Given the description of an element on the screen output the (x, y) to click on. 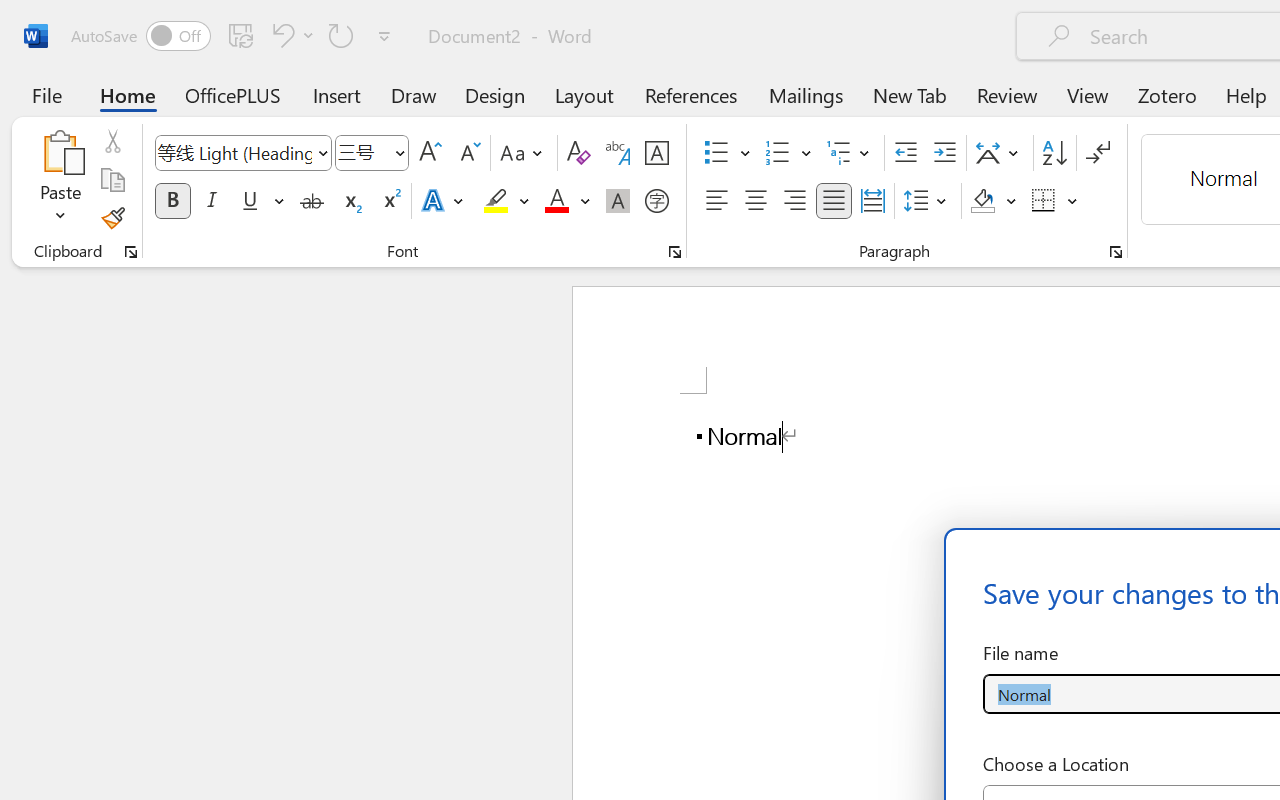
Character Border (656, 153)
Underline (261, 201)
Font Color (567, 201)
Center (756, 201)
Layout (584, 94)
Numbering (778, 153)
Draw (413, 94)
Format Painter (112, 218)
Show/Hide Editing Marks (1098, 153)
Numbering (788, 153)
Undo Typing (280, 35)
Italic (212, 201)
Bold (172, 201)
Repeat Typing (341, 35)
